Given the description of an element on the screen output the (x, y) to click on. 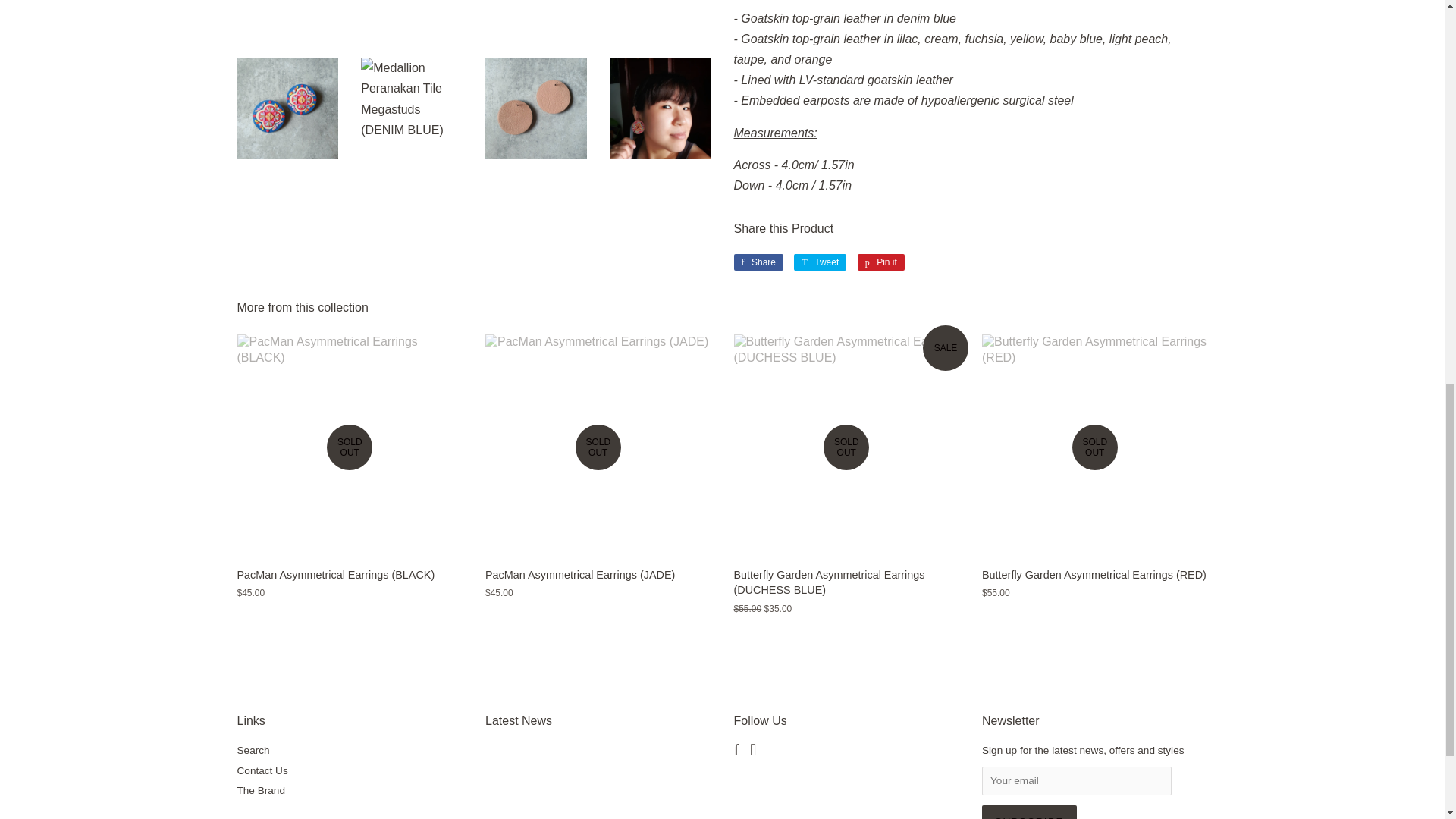
Share on Facebook (758, 262)
Tweet on Twitter (758, 262)
Subscribe (819, 262)
Pin on Pinterest (819, 262)
